Given the description of an element on the screen output the (x, y) to click on. 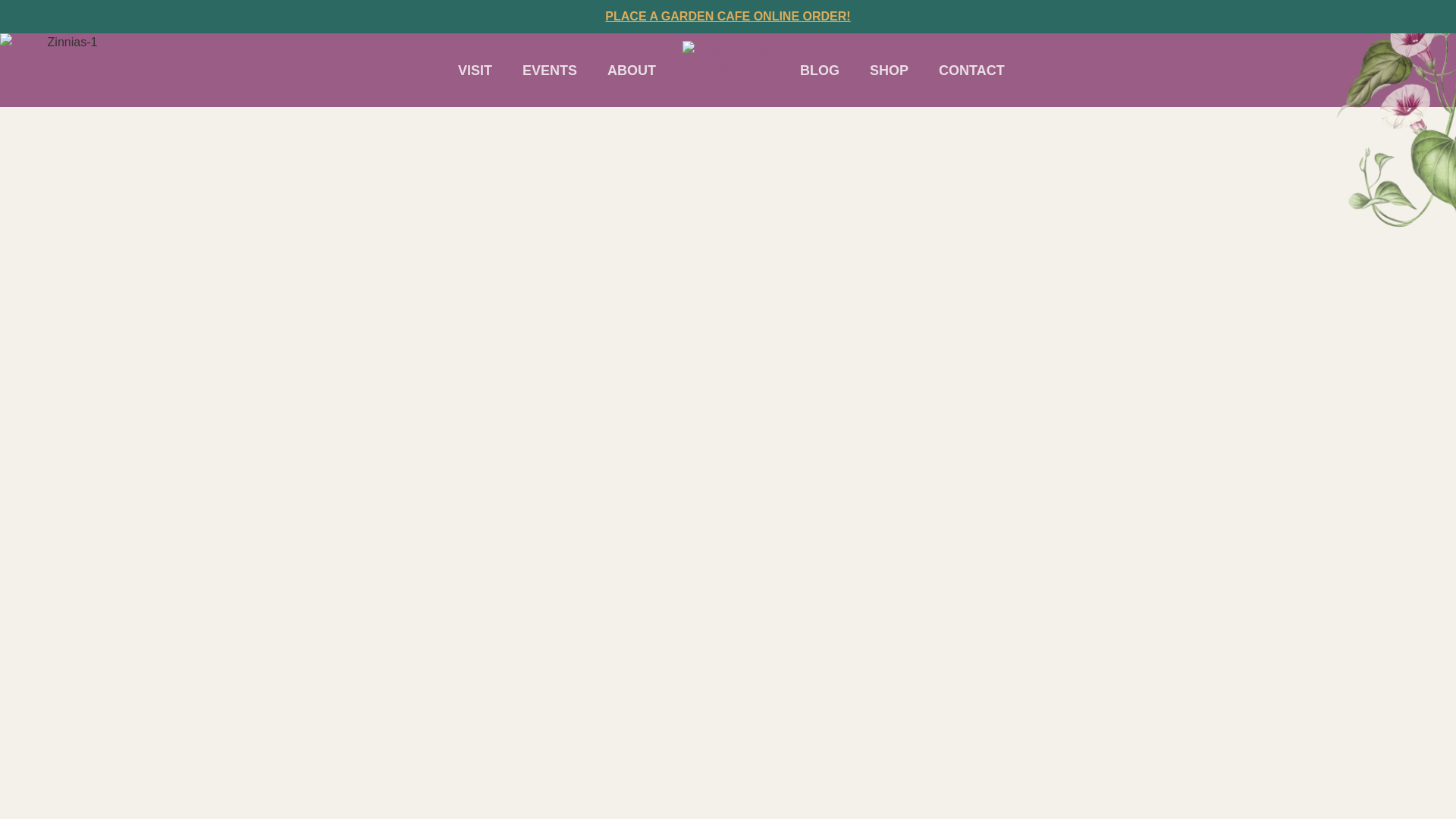
CONTACT (971, 70)
BLOG (819, 70)
ABOUT (630, 70)
EVENTS (549, 70)
SHOP (889, 70)
PLACE A GARDEN CAFE ONLINE ORDER! (727, 15)
VISIT (474, 70)
